Given the description of an element on the screen output the (x, y) to click on. 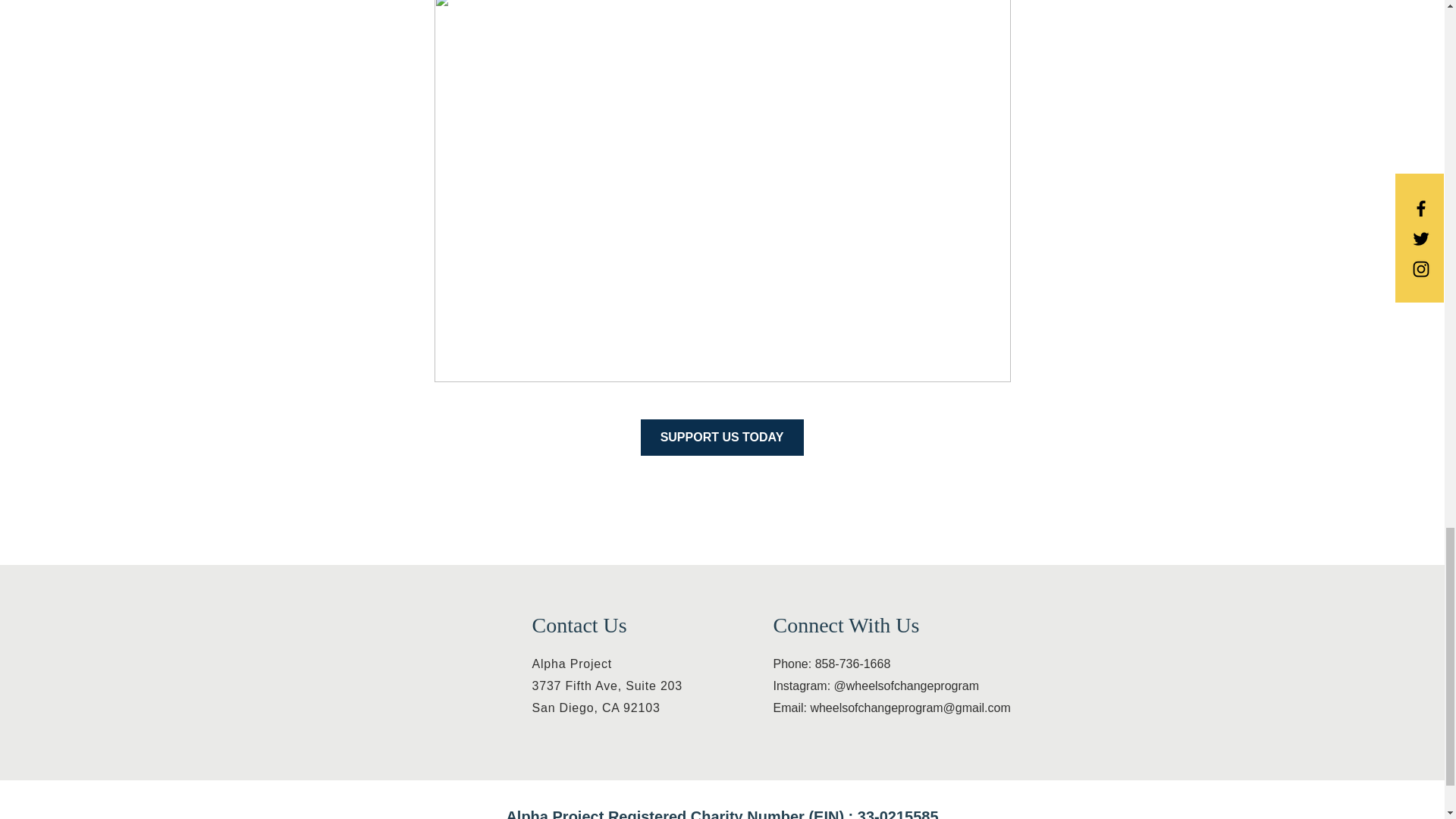
Alpha Project (607, 696)
Phone: 858-736-1668 (572, 663)
SUPPORT US TODAY (832, 663)
